Given the description of an element on the screen output the (x, y) to click on. 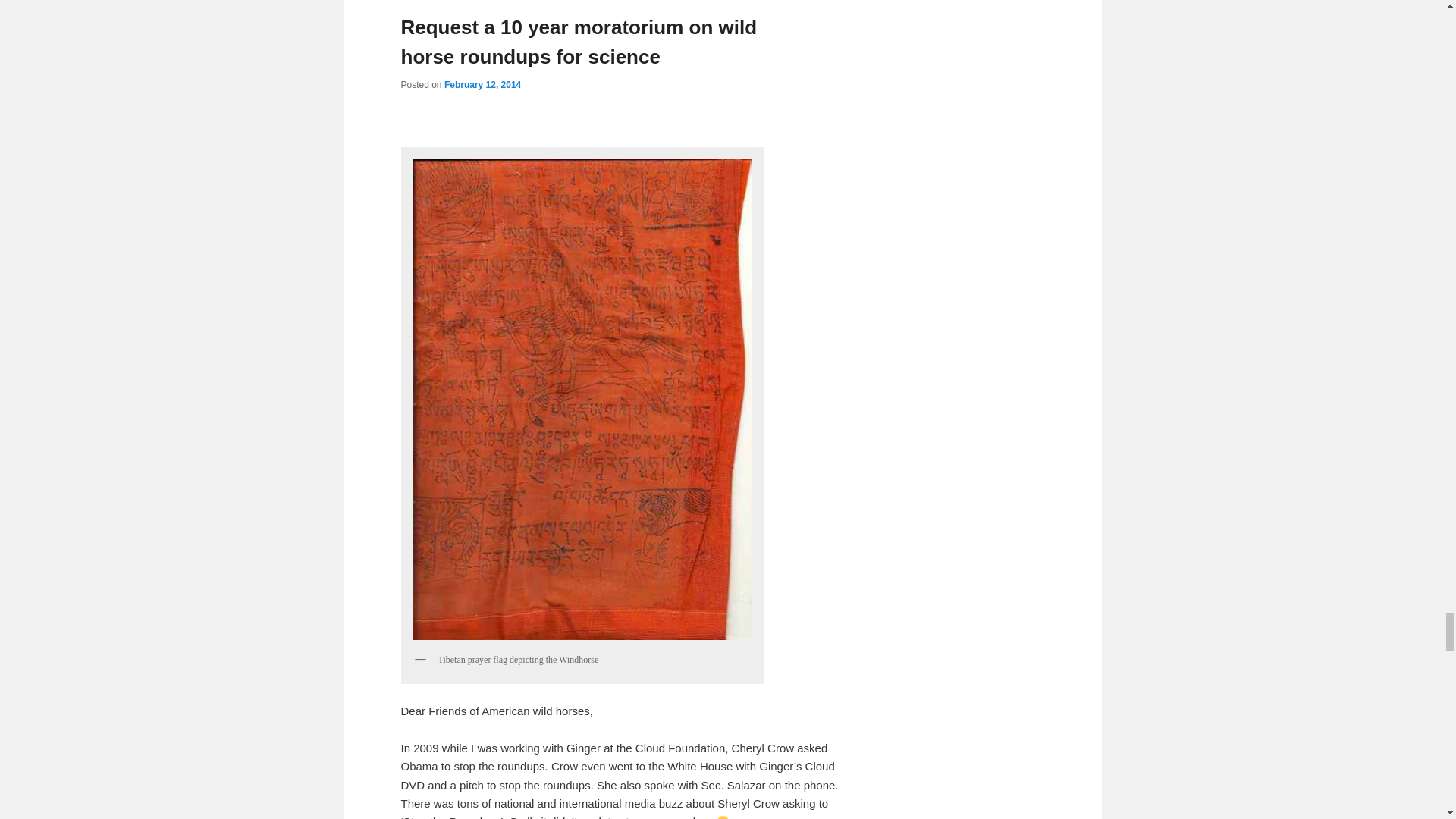
1:09 pm (482, 84)
